Given the description of an element on the screen output the (x, y) to click on. 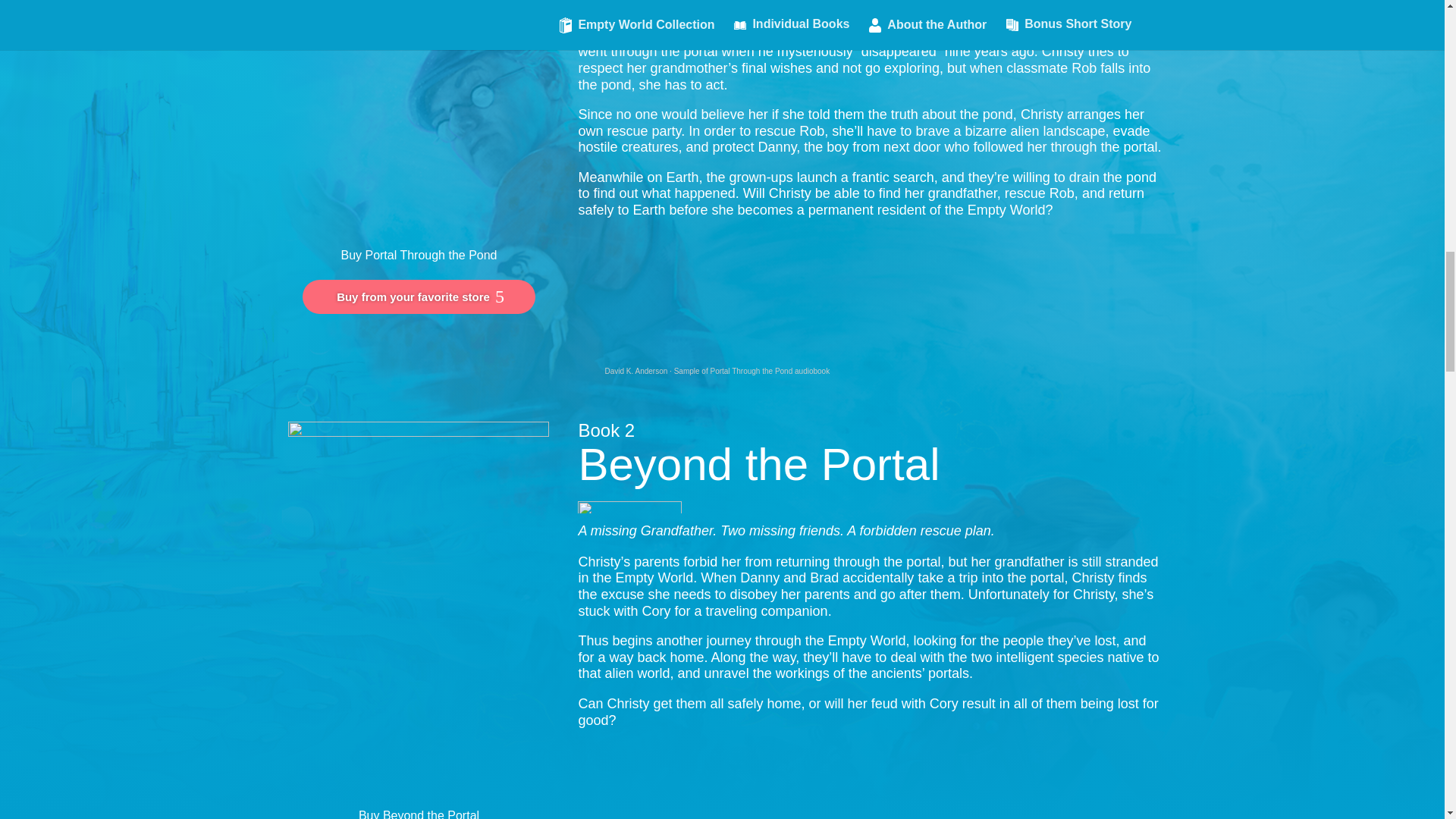
Untitled-2-2 (629, 507)
Buy from your favorite store (418, 297)
Sample of Portal Through the Pond audiobook (751, 370)
David K. Anderson (635, 370)
Sample of Portal Through the Pond audiobook (751, 370)
David K. Anderson (635, 370)
